Given the description of an element on the screen output the (x, y) to click on. 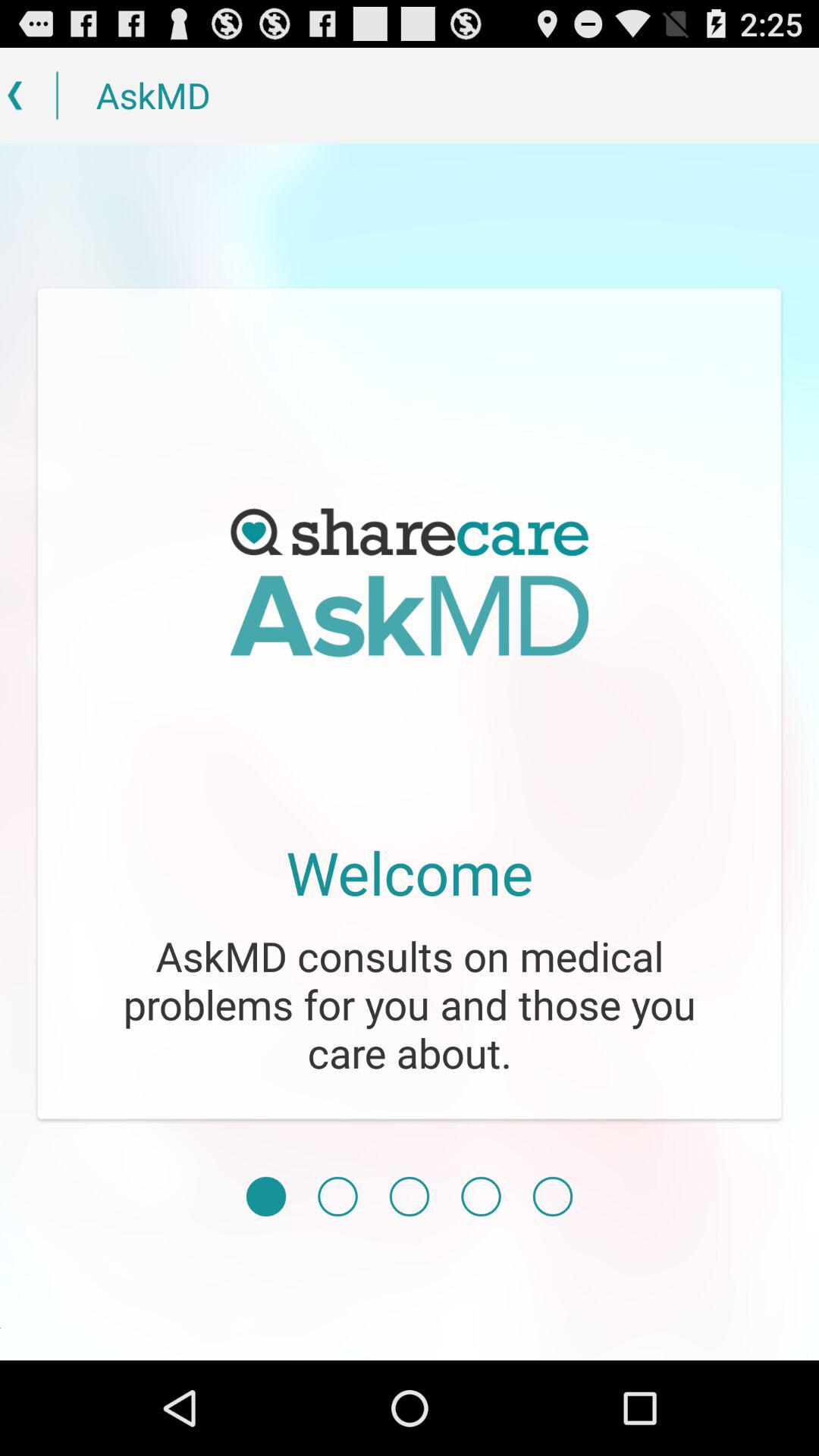
view startup descriptions of the app (480, 1196)
